Given the description of an element on the screen output the (x, y) to click on. 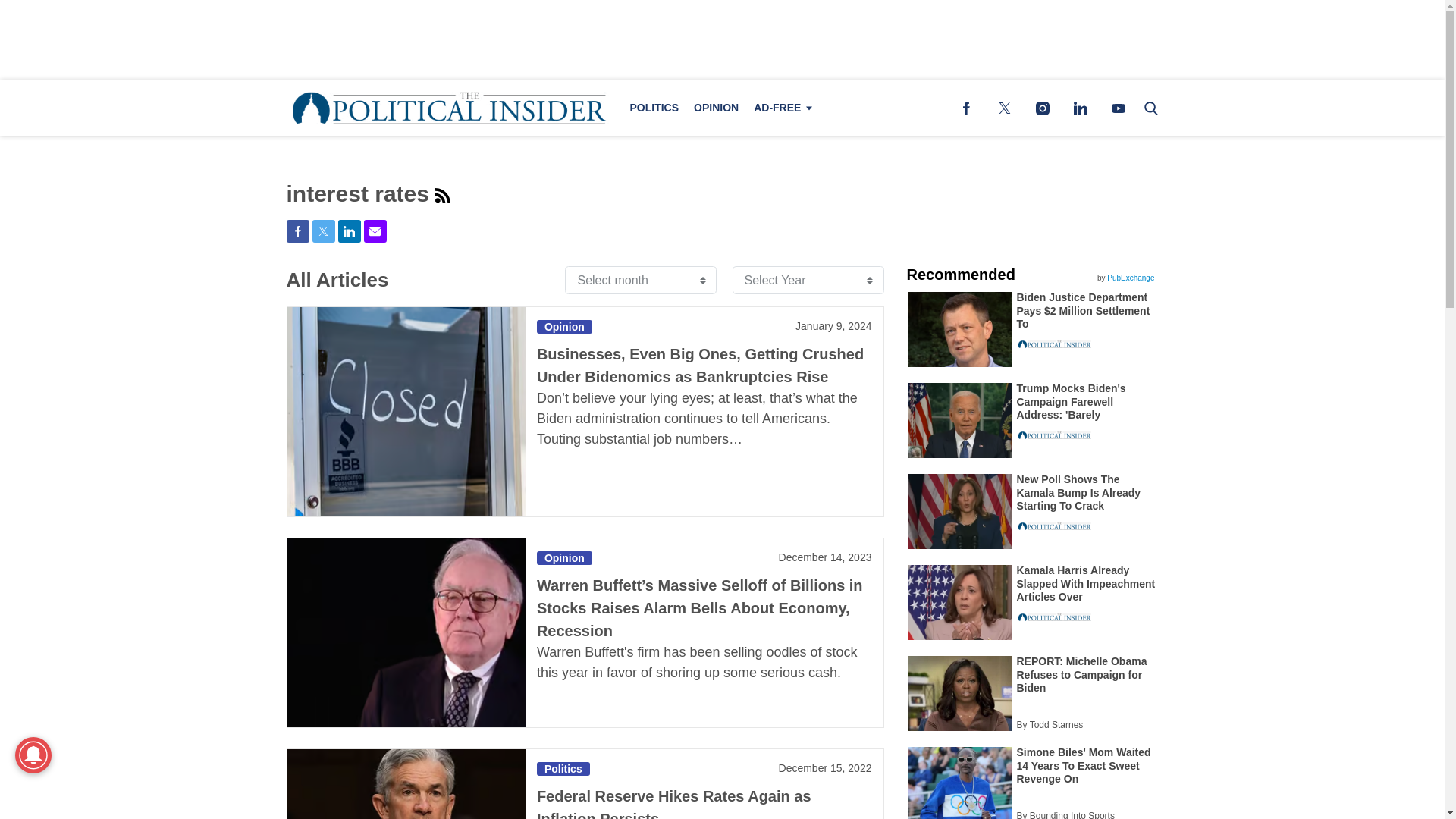
Opinion (564, 558)
Share via Email (375, 231)
Federalreserve, Public domain, via Wikimedia Commons (405, 784)
AD-FREE (780, 107)
Share on Facebook (297, 231)
OPINION (715, 107)
Share on Twitter (323, 231)
Opinion (564, 326)
Federal Reserve Hikes Rates Again as Inflation Persists (673, 803)
3rd party ad content (722, 39)
Share on LinkedIn (349, 231)
Politics (563, 768)
Group (442, 195)
